Given the description of an element on the screen output the (x, y) to click on. 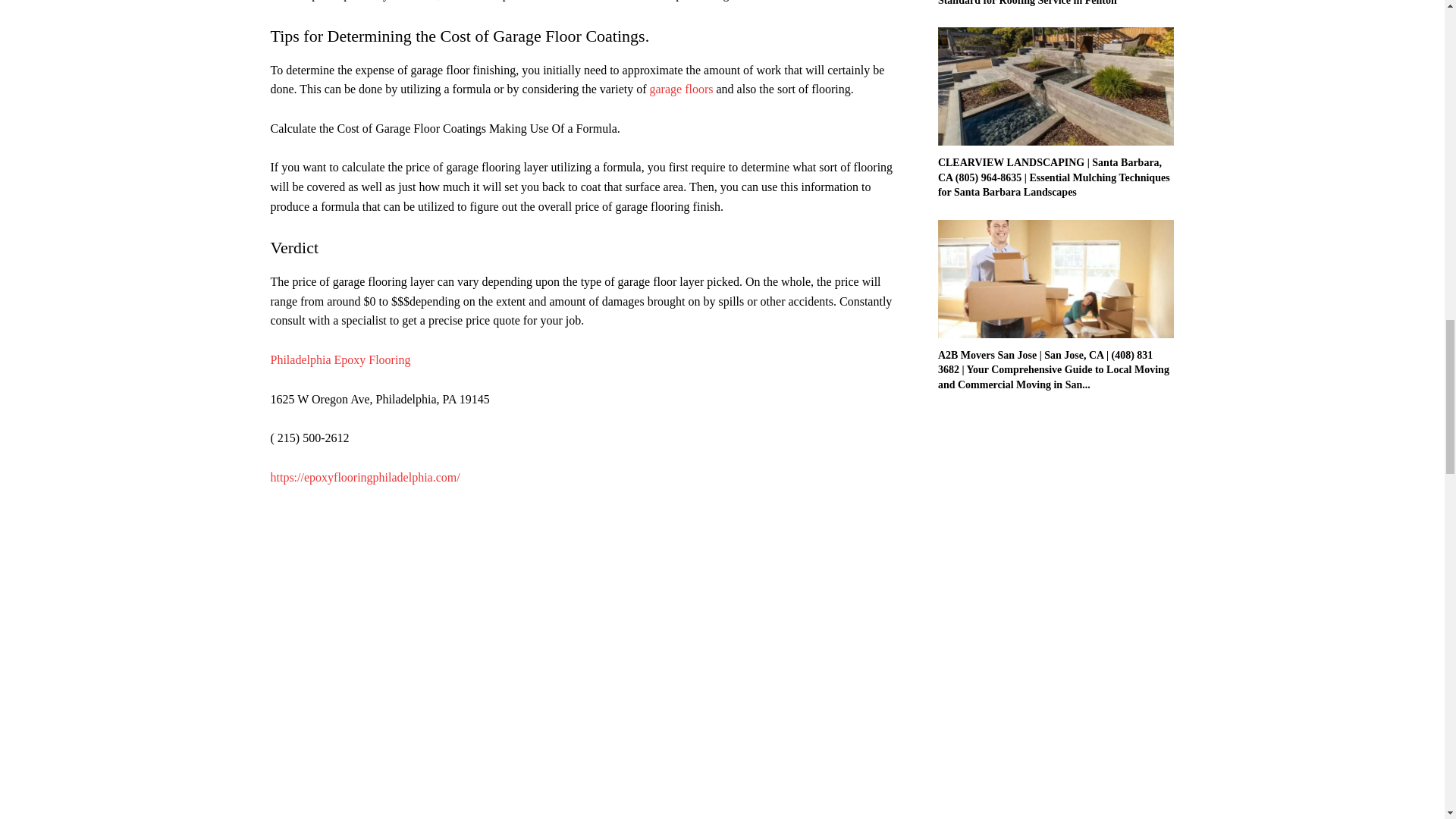
garage floors (681, 88)
Philadelphia Epoxy Flooring (339, 359)
